Given the description of an element on the screen output the (x, y) to click on. 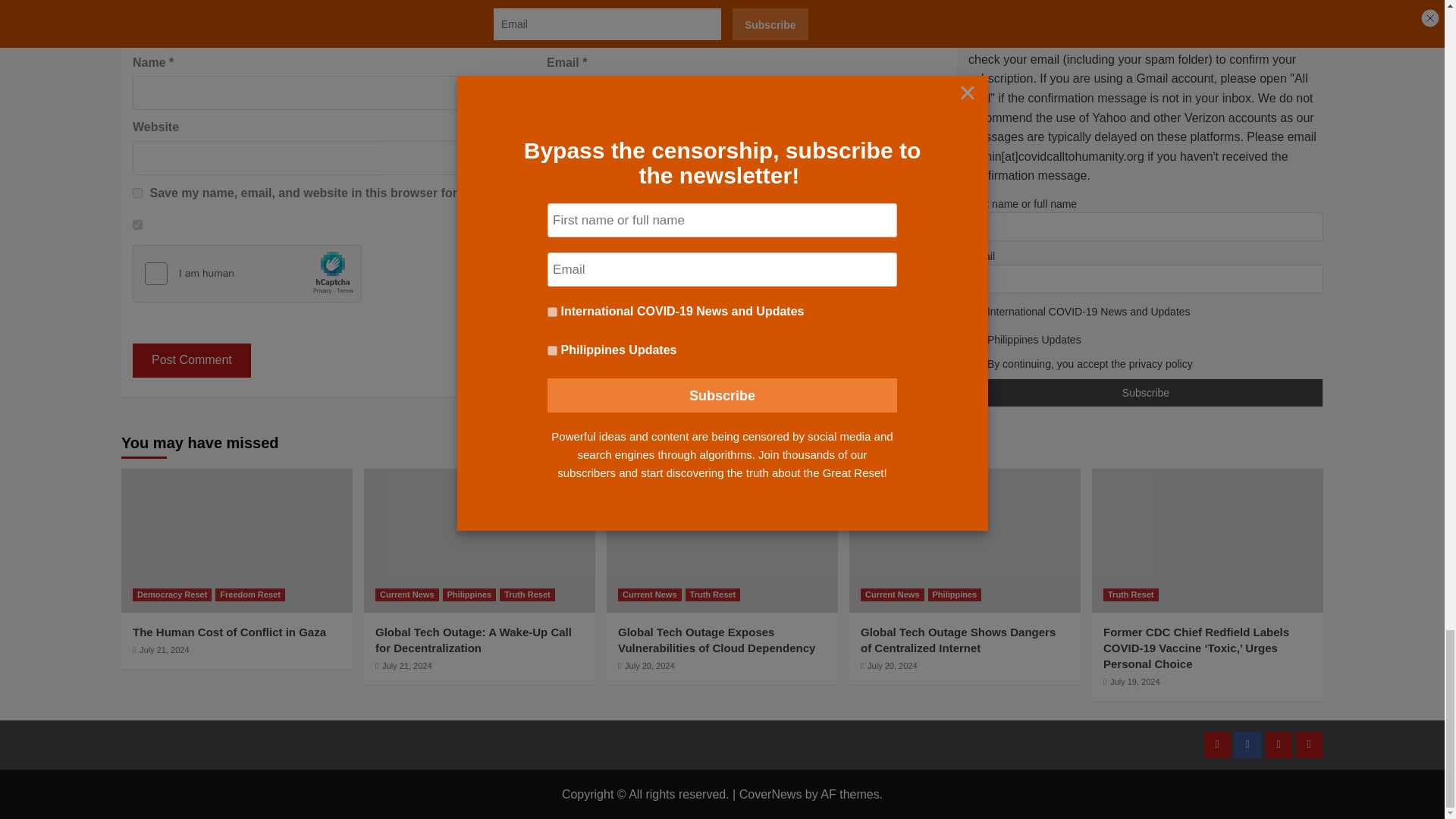
1 (137, 225)
yes (137, 193)
Widget containing checkbox for hCaptcha security challenge (247, 273)
Post Comment (191, 360)
